Given the description of an element on the screen output the (x, y) to click on. 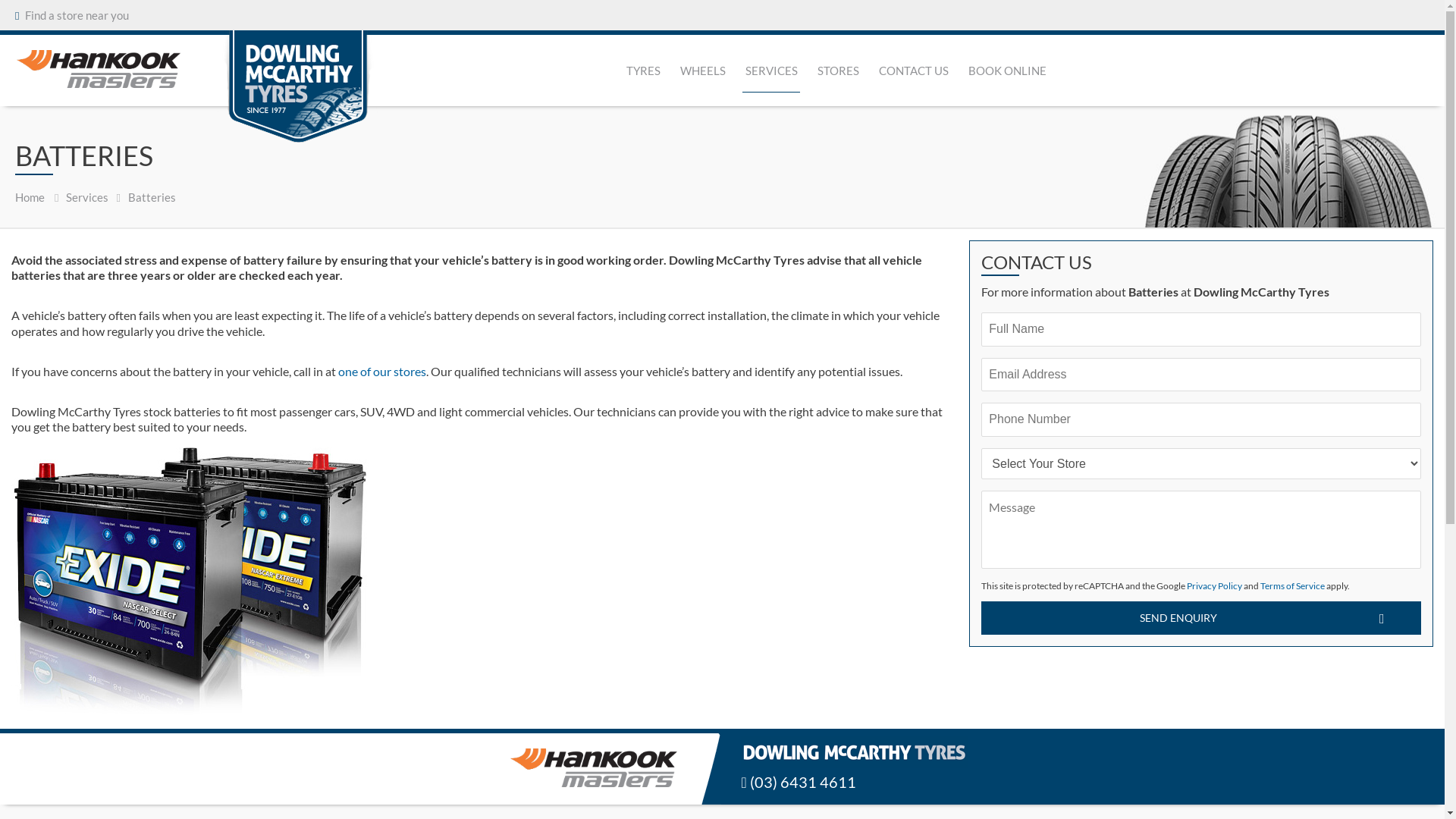
Find a store near you Element type: text (75, 14)
(03) 6431 4611 Element type: text (853, 781)
Home Element type: text (29, 196)
BOOK ONLINE Element type: text (1006, 70)
WHEELS Element type: text (702, 70)
Services Element type: text (86, 196)
SERVICES Element type: text (770, 70)
Terms of Service Element type: text (1292, 585)
TYRES Element type: text (643, 70)
Privacy Policy Element type: text (1214, 585)
SEND ENQUIRY Element type: text (1201, 617)
STORES Element type: text (838, 70)
Batteries Element type: text (151, 196)
CONTACT US Element type: text (912, 70)
one of our stores Element type: text (382, 371)
